Given the description of an element on the screen output the (x, y) to click on. 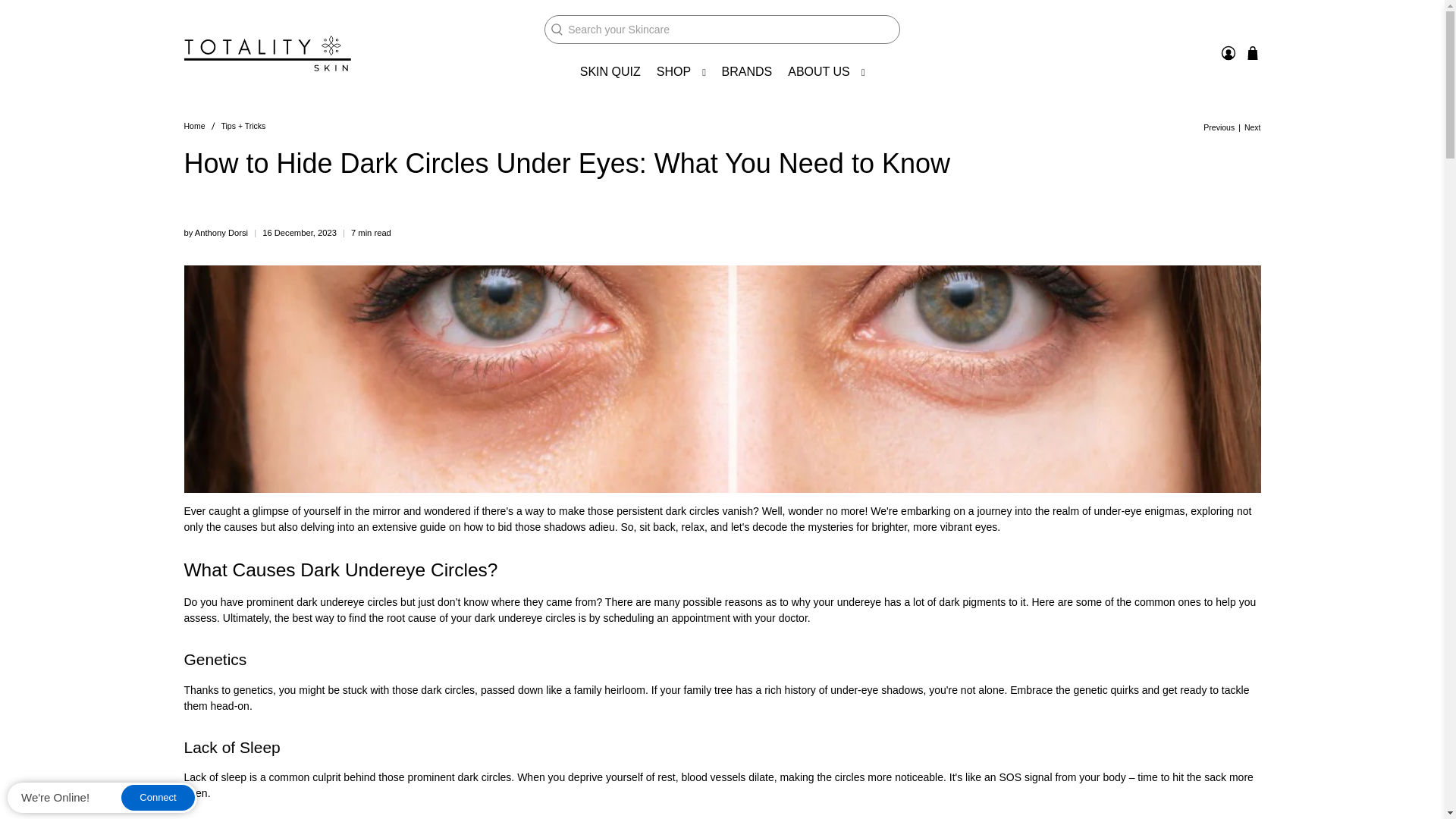
Next (1252, 127)
Previous (1219, 127)
BRANDS (746, 70)
product (567, 28)
SHOP (680, 70)
ABOUT US (826, 70)
Totality Medispa and Skincare (194, 125)
SKIN QUIZ (609, 70)
Totality Medispa and Skincare (266, 53)
